Given the description of an element on the screen output the (x, y) to click on. 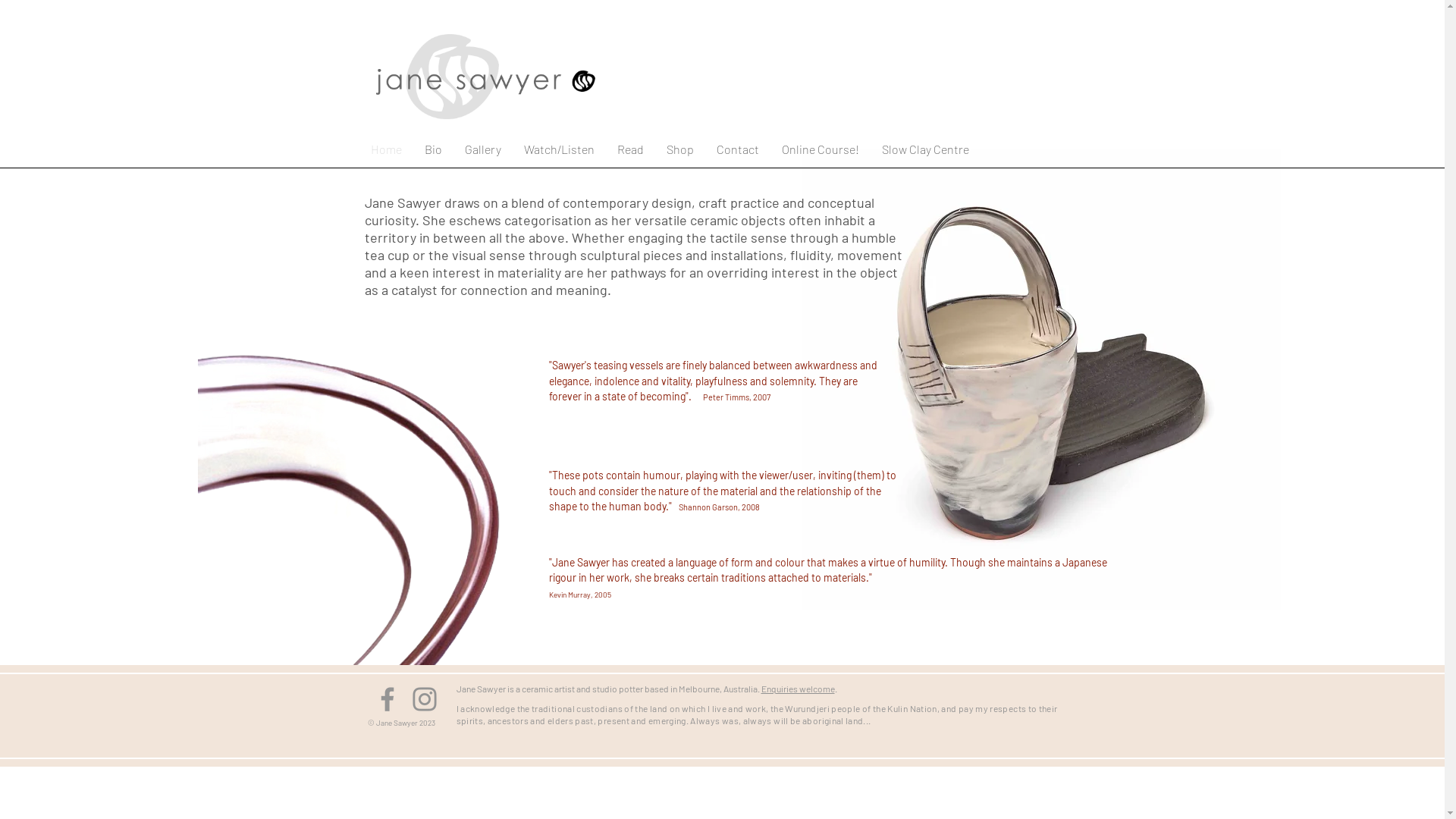
Contact Element type: text (737, 149)
Bio Element type: text (432, 149)
Shop Element type: text (680, 149)
Enquiries welcome Element type: text (797, 688)
Home Element type: text (386, 149)
Watch/Listen Element type: text (558, 149)
Read Element type: text (629, 149)
Online Course! Element type: text (820, 149)
Slow Clay Centre Element type: text (925, 149)
Gallery Element type: text (482, 149)
